Given the description of an element on the screen output the (x, y) to click on. 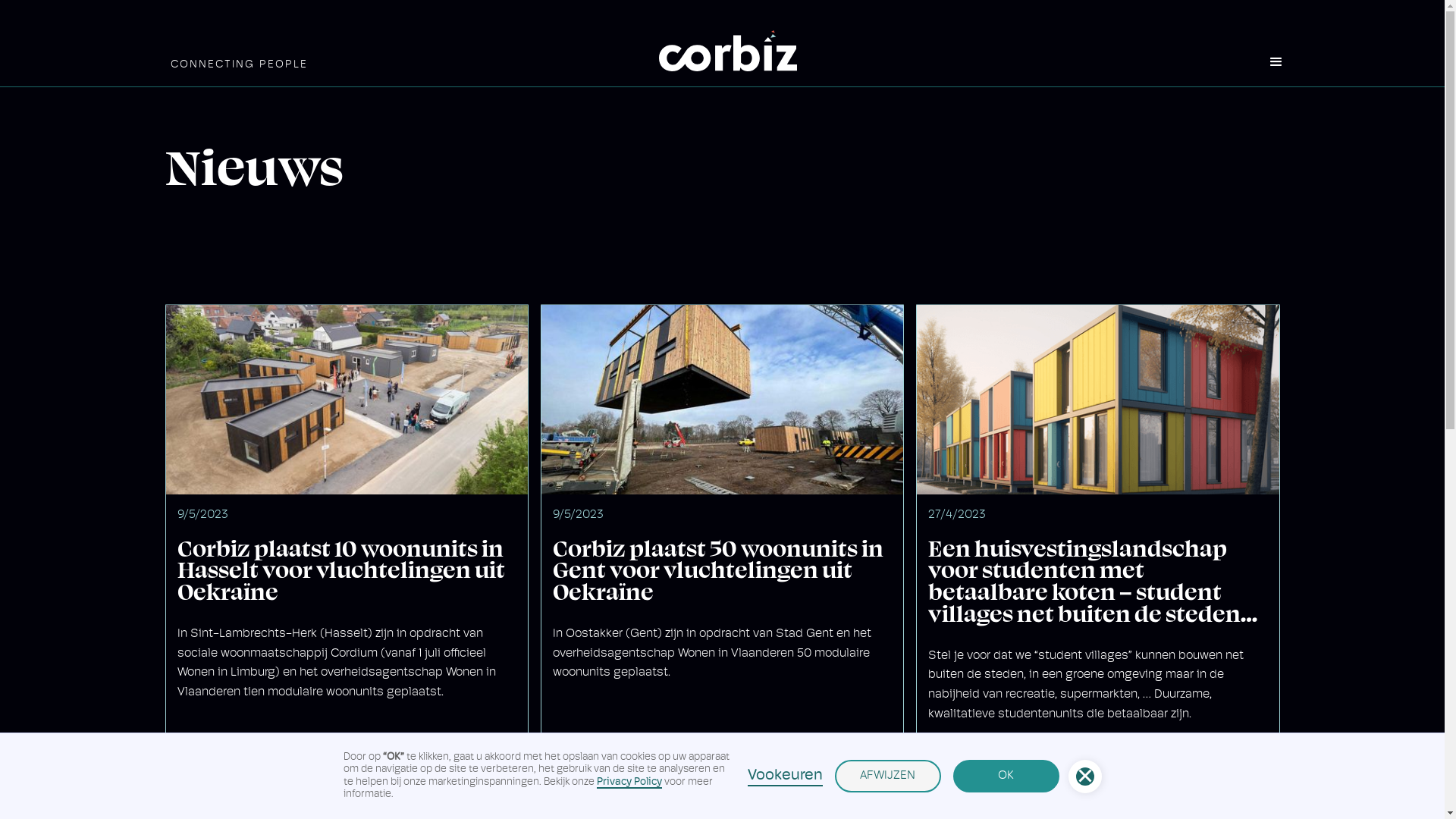
Privacy Policy Element type: text (628, 781)
Lees meer Element type: text (968, 757)
AFWIJZEN Element type: text (887, 775)
OK Element type: text (1005, 775)
Lees meer Element type: text (217, 757)
Vookeuren Element type: text (784, 775)
Lees meer Element type: text (592, 757)
